Given the description of an element on the screen output the (x, y) to click on. 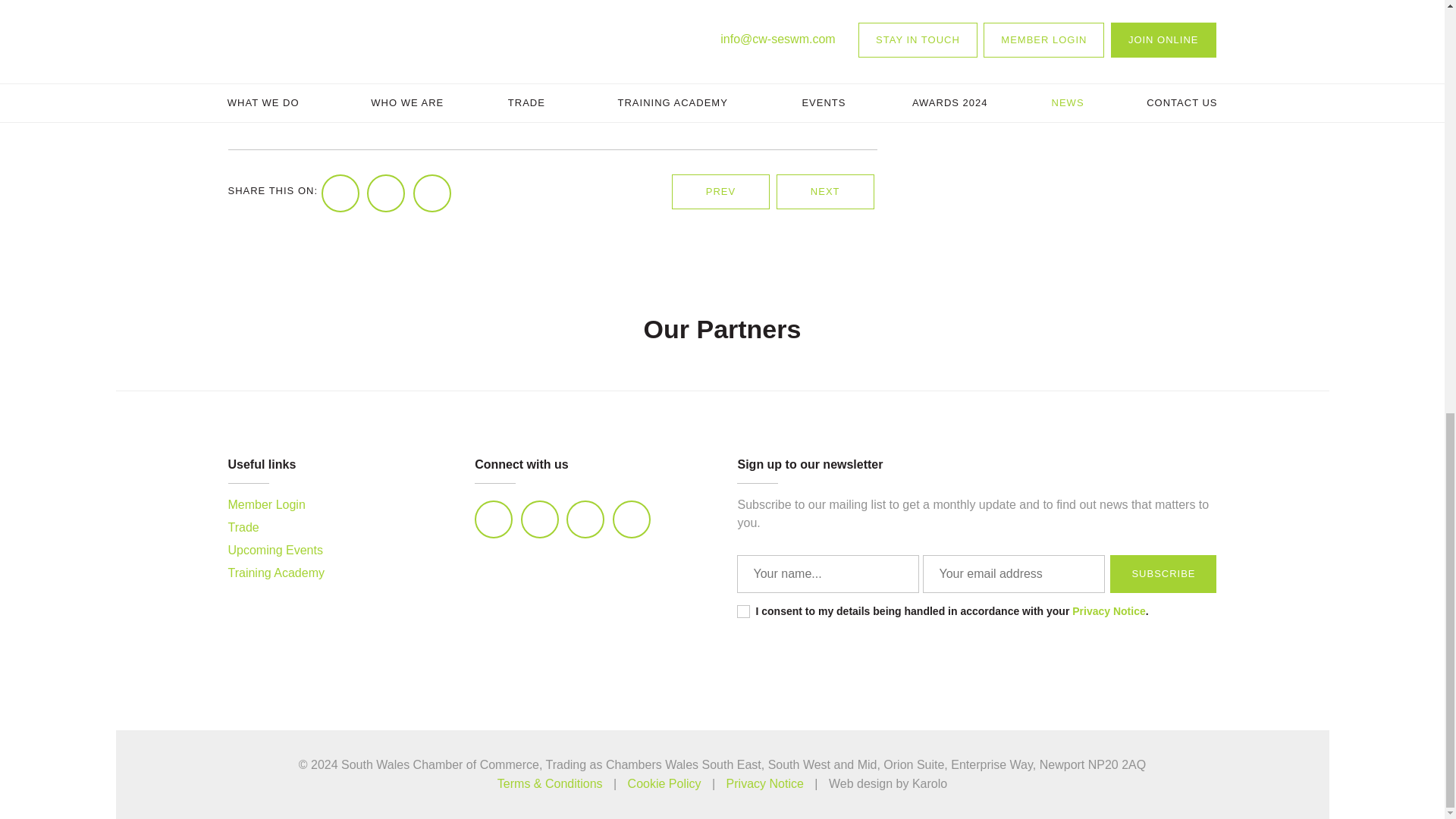
Find us on YouTube (631, 519)
Share on Twitter (385, 193)
Share on Facebook (340, 193)
Find us on Twitter (540, 519)
Share on LinkedIn (432, 193)
Find us on LinkedIn (493, 519)
Find us on Facebook (585, 519)
